Given the description of an element on the screen output the (x, y) to click on. 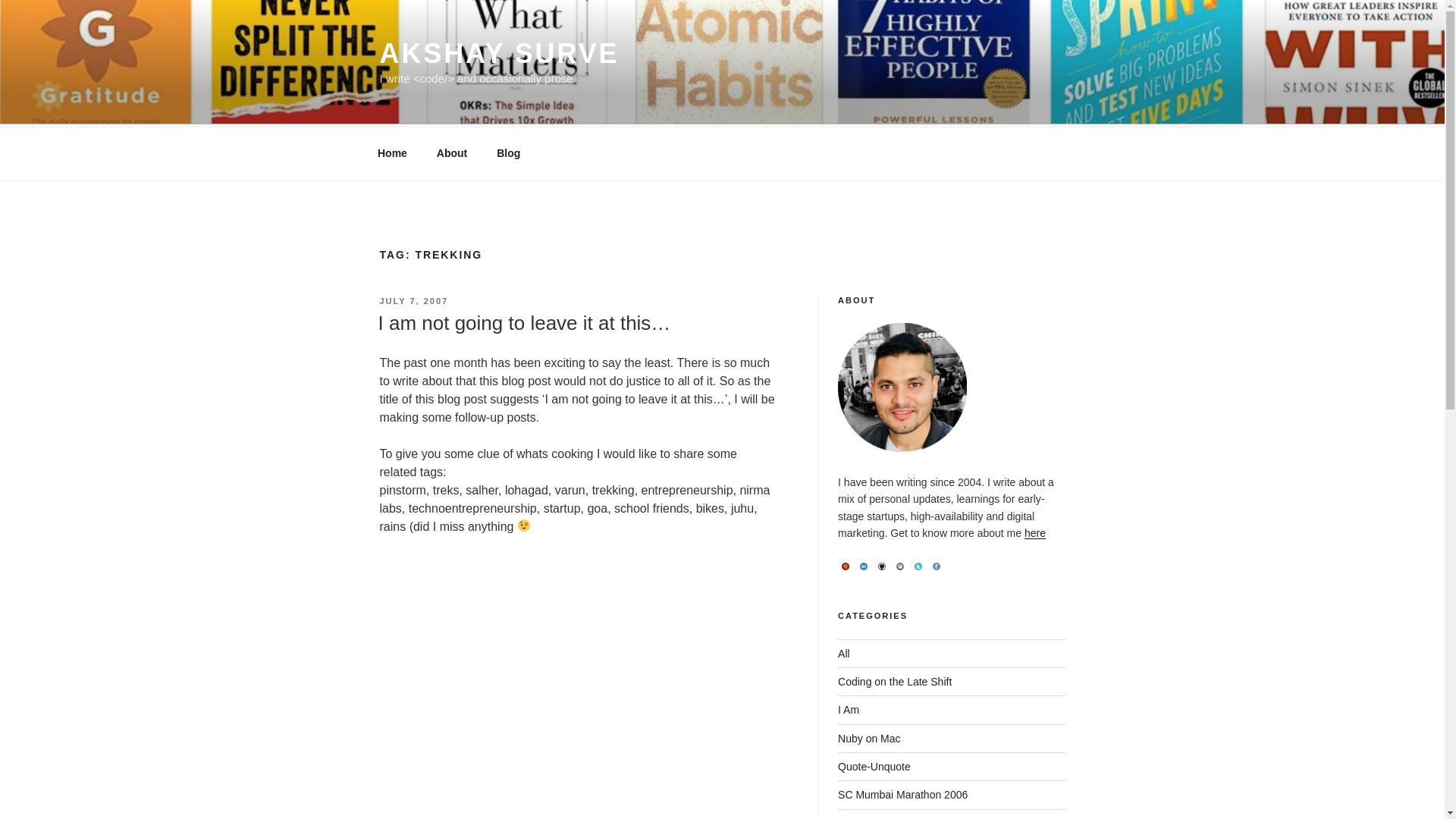
AKSHAY SURVE (498, 52)
Coding on the Late Shift (895, 681)
All (844, 653)
here (1035, 532)
Tumblelog (862, 818)
I Am (848, 709)
Nuby on Mac (868, 738)
About (451, 153)
Home (392, 153)
Quote-Unquote (874, 766)
JULY 7, 2007 (413, 300)
Blog (508, 153)
SC Mumbai Marathon 2006 (903, 794)
